Given the description of an element on the screen output the (x, y) to click on. 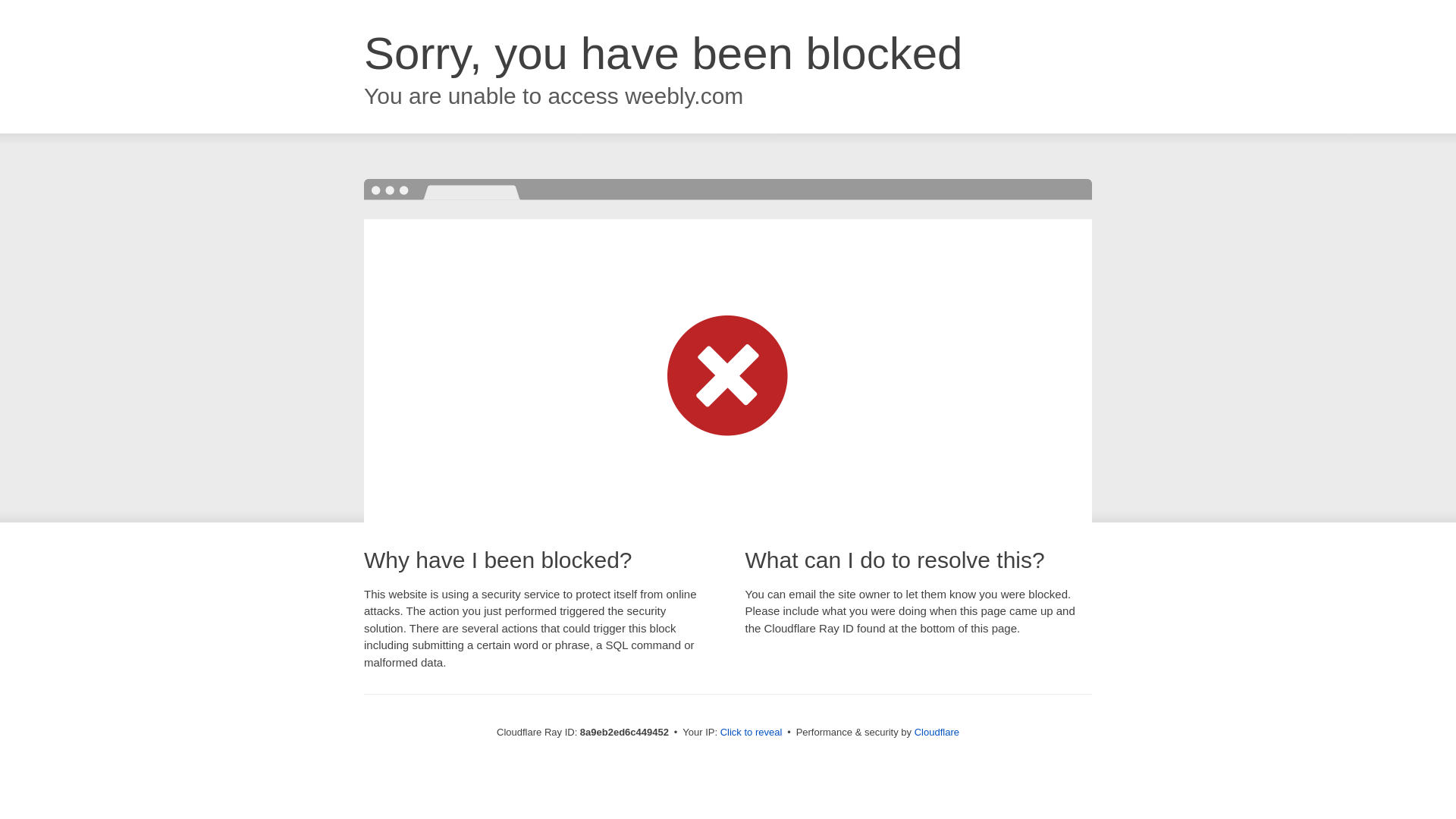
Click to reveal (751, 732)
Cloudflare (936, 731)
